Given the description of an element on the screen output the (x, y) to click on. 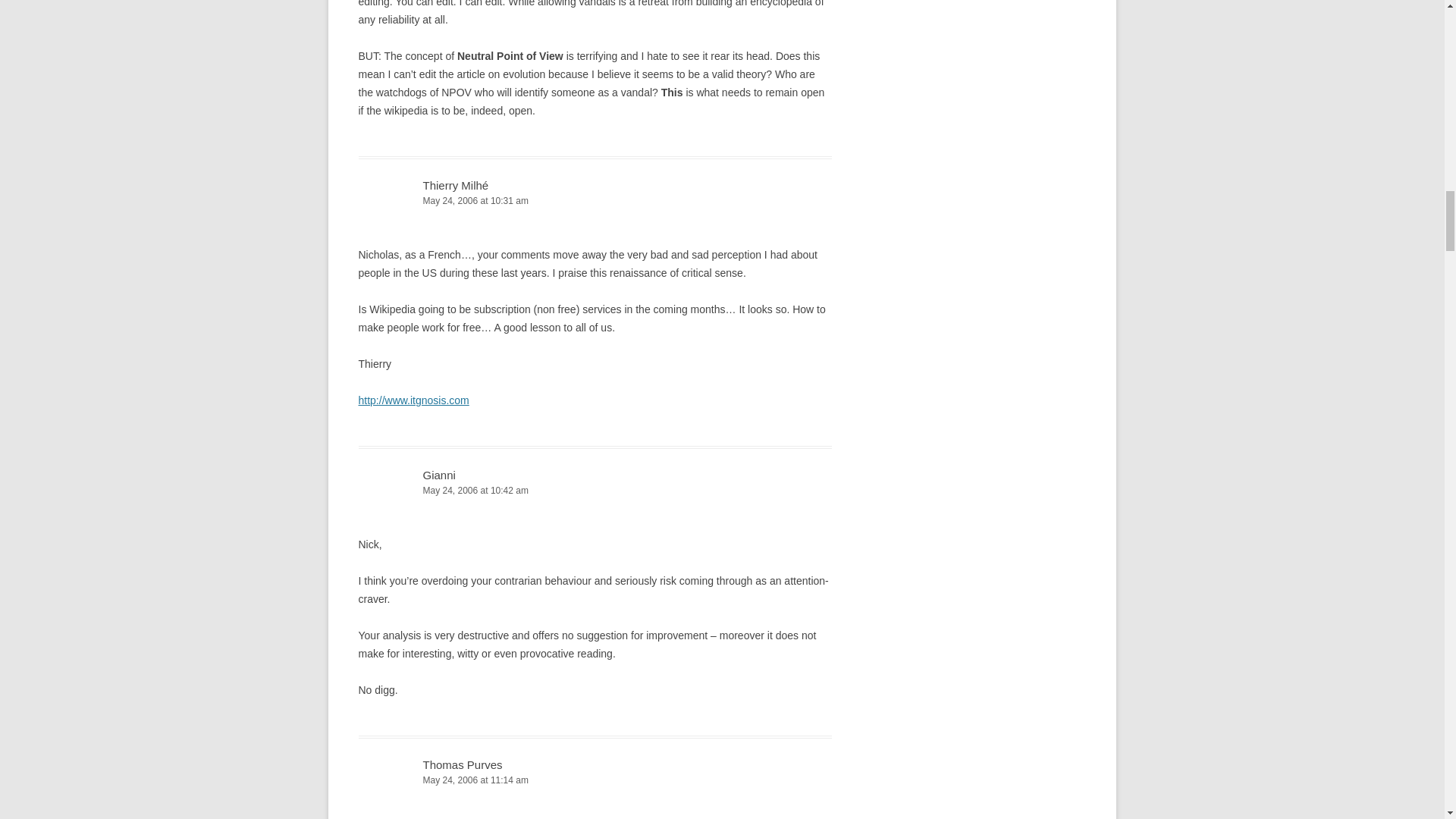
May 24, 2006 at 11:14 am (594, 780)
May 24, 2006 at 10:42 am (594, 490)
Gianni (439, 474)
Thomas Purves (462, 764)
May 24, 2006 at 10:31 am (594, 201)
